Given the description of an element on the screen output the (x, y) to click on. 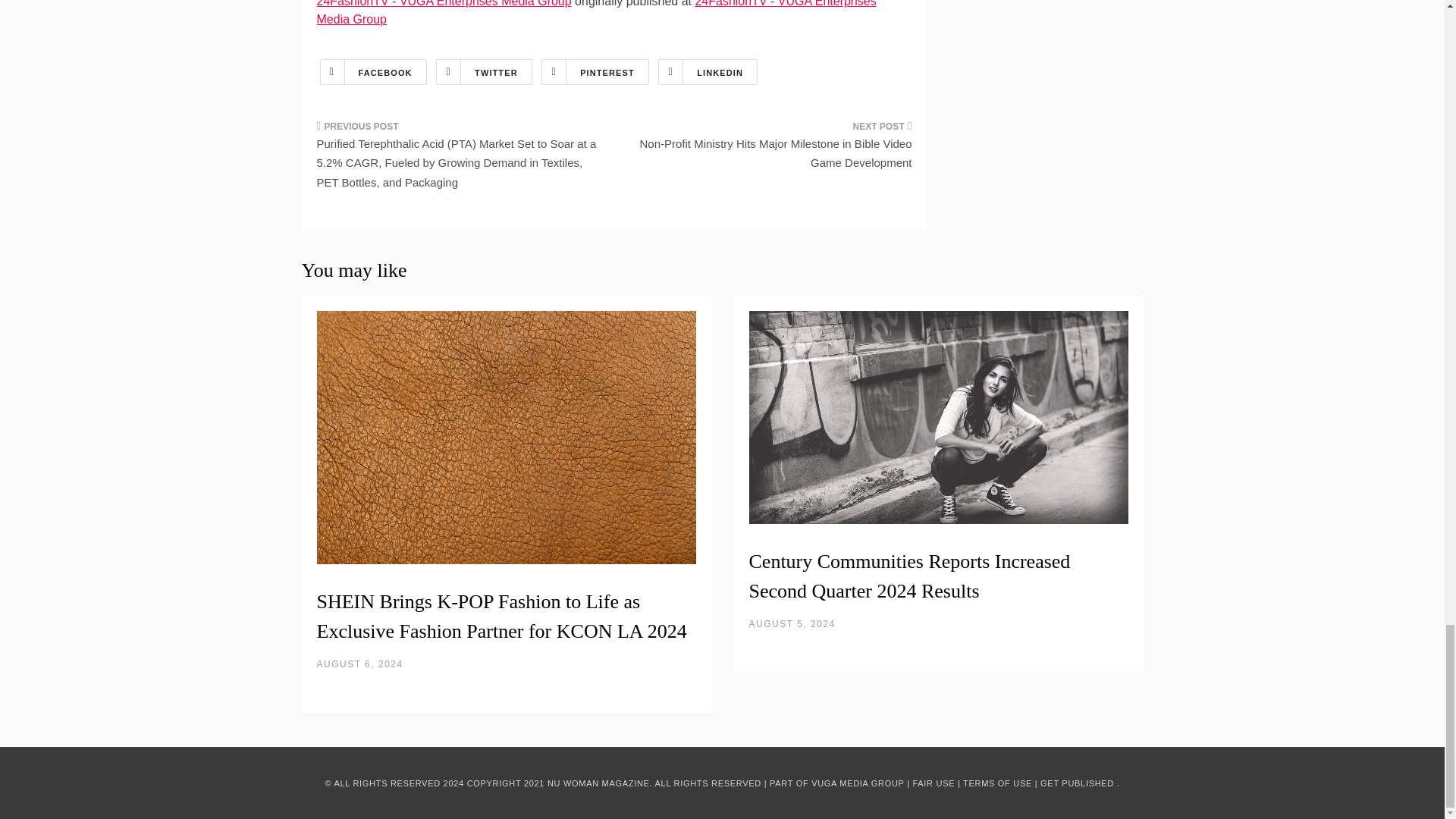
PINTEREST (595, 71)
TWITTER (483, 71)
FACEBOOK (373, 71)
24FashionTV - VUGA Enterprises Media Group (444, 3)
LINKEDIN (707, 71)
24FashionTV - VUGA Enterprises Media Group (596, 12)
